Given the description of an element on the screen output the (x, y) to click on. 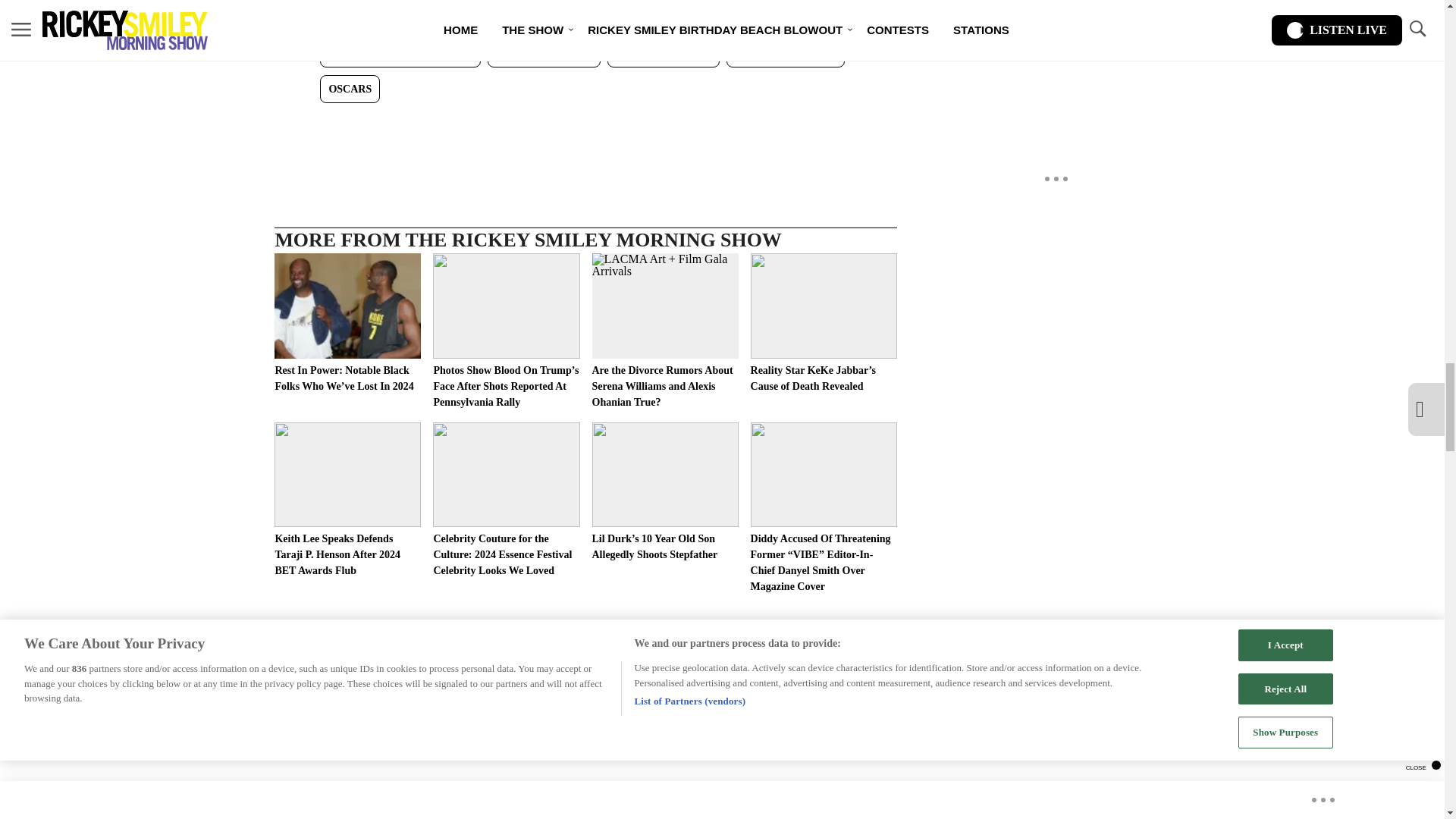
14TH GOVERNORS AWARDS (400, 53)
ACADEMY AWARD (543, 53)
HONORARY OSCAR (785, 53)
Vuukle Sharebar Widget (585, 127)
ANGELA BASSETT (663, 53)
